Given the description of an element on the screen output the (x, y) to click on. 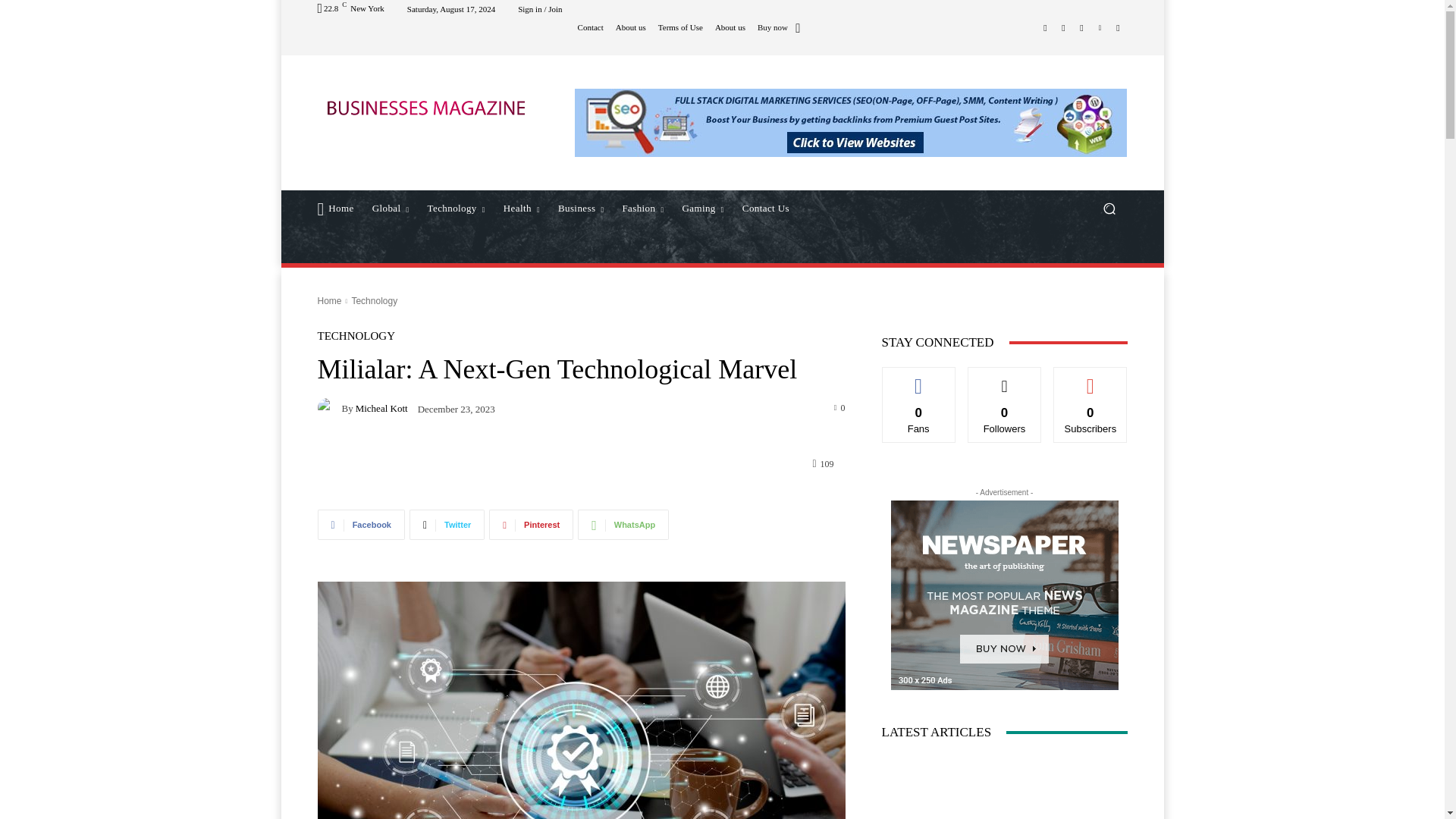
Home (335, 208)
Terms of Use (680, 27)
Contact (591, 27)
Vimeo (1099, 27)
Twitter (1080, 27)
About us (729, 27)
Facebook (1044, 27)
Youtube (1117, 27)
Instagram (1062, 27)
About us (630, 27)
